Given the description of an element on the screen output the (x, y) to click on. 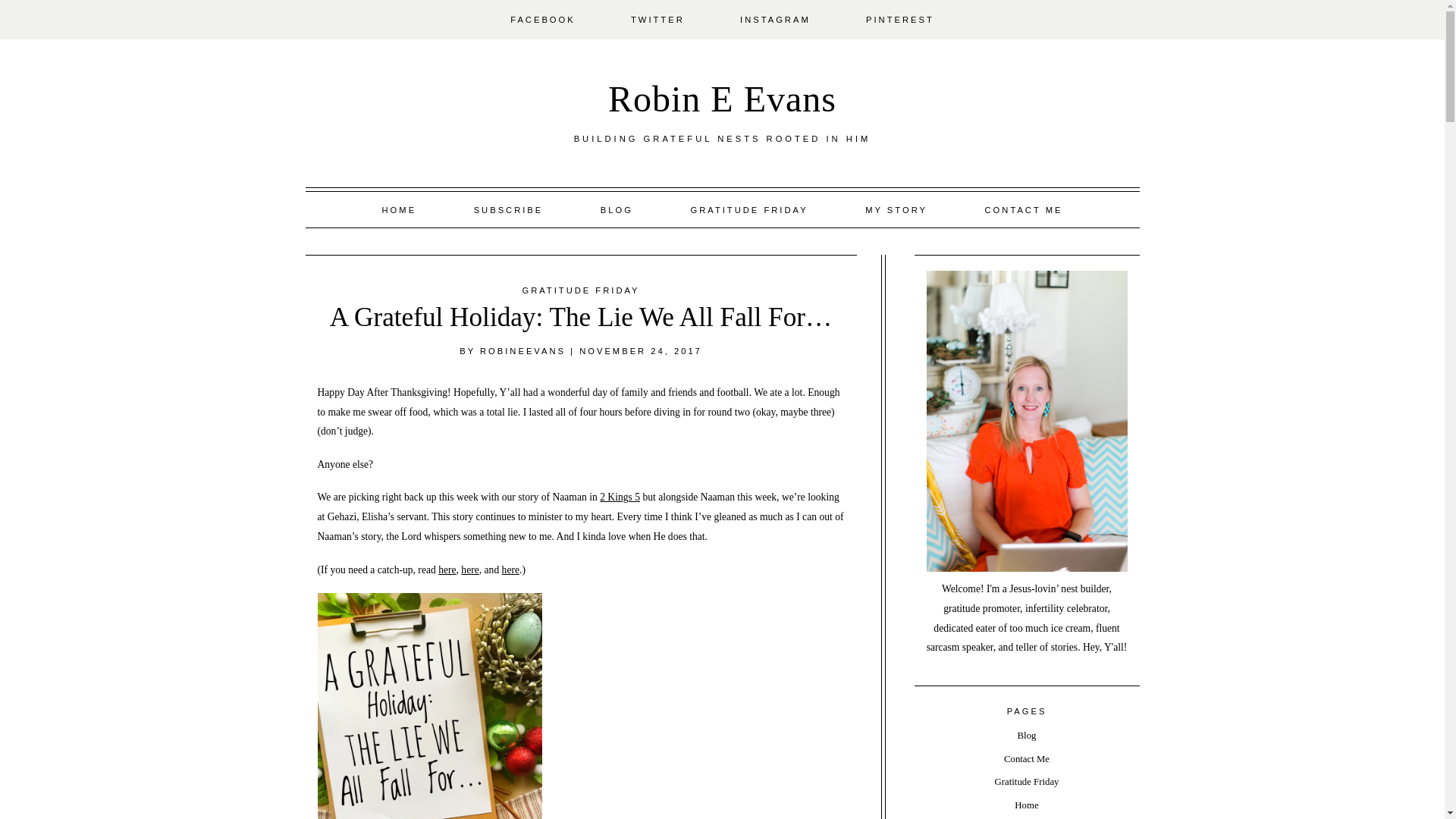
BLOG (616, 209)
CONTACT ME (1023, 209)
here (510, 569)
NOVEMBER 24, 2017 (640, 350)
ROBINEEVANS (523, 350)
GRATITUDE FRIDAY (748, 209)
2 Kings 5 (619, 496)
SUBSCRIBE (507, 209)
PINTEREST (899, 19)
FACEBOOK (542, 19)
HOME (398, 209)
Robin E Evans (721, 98)
here (470, 569)
MY STORY (895, 209)
